Given the description of an element on the screen output the (x, y) to click on. 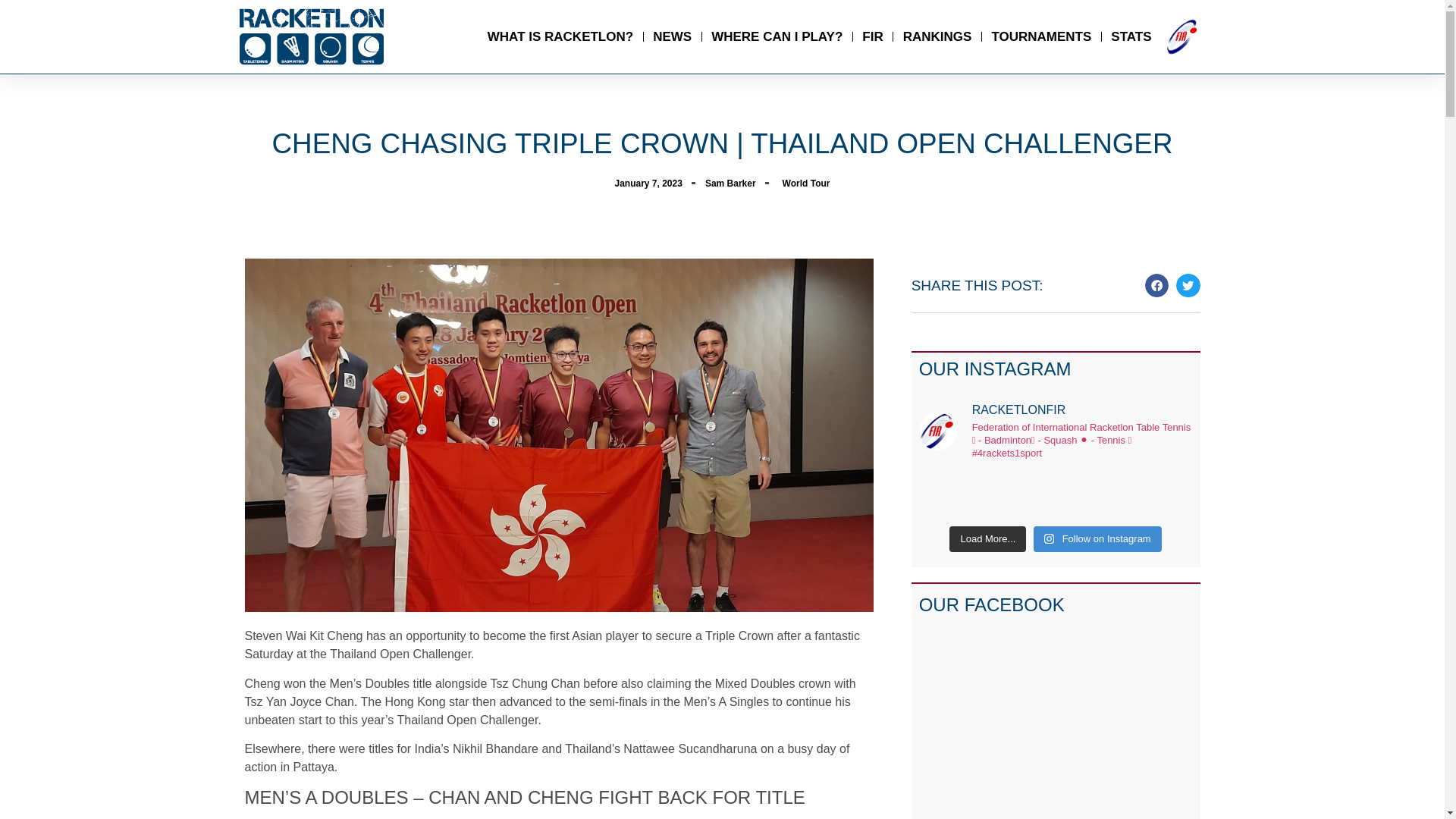
FIR (871, 36)
WHERE CAN I PLAY? (777, 36)
RANKINGS (937, 36)
TOURNAMENTS (1040, 36)
WHAT IS RACKETLON? (560, 36)
NEWS (671, 36)
STATS (1130, 36)
